Given the description of an element on the screen output the (x, y) to click on. 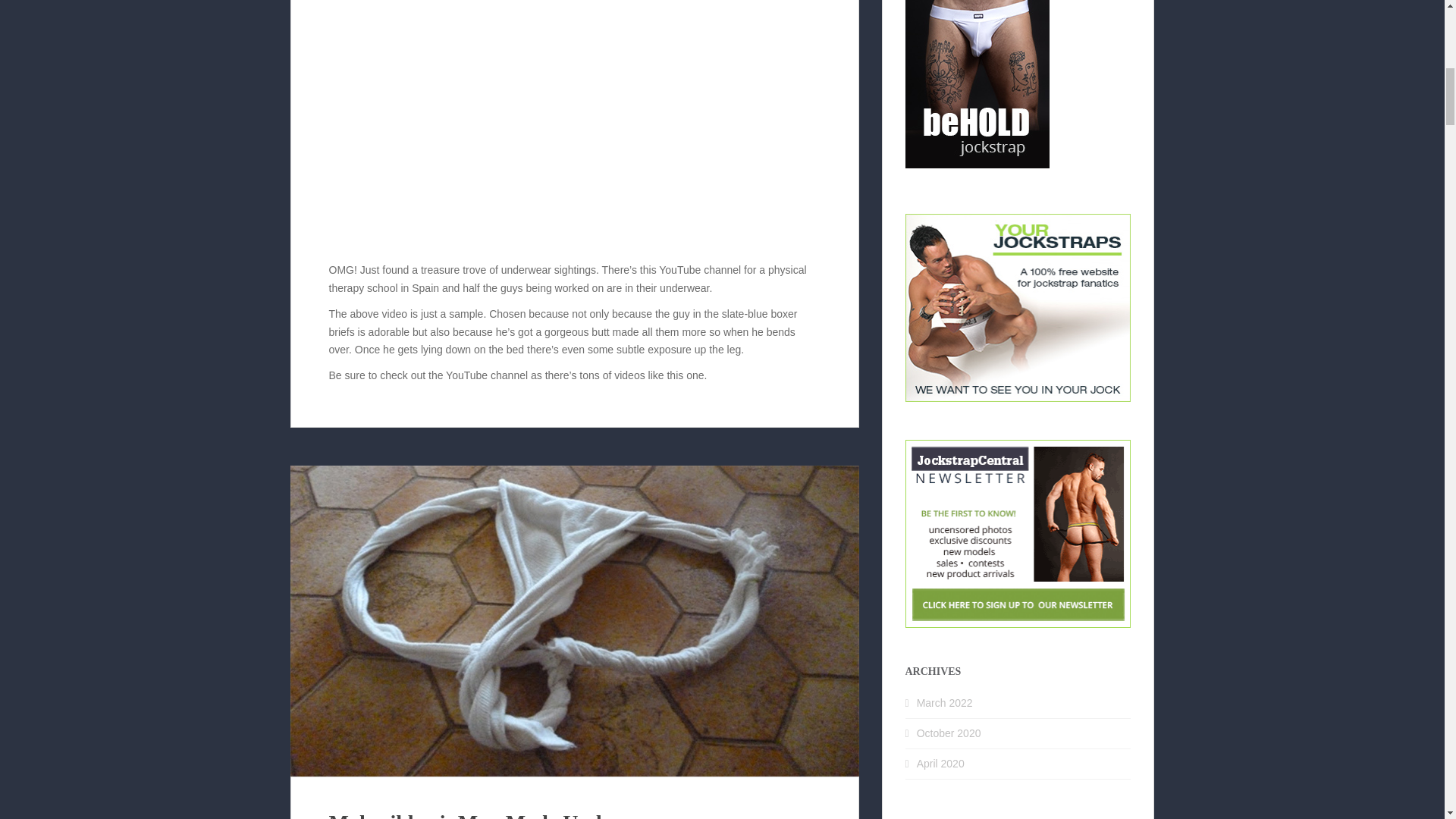
Test iliacos (575, 122)
Mahasikhari: Man Made Underwear (497, 814)
